Given the description of an element on the screen output the (x, y) to click on. 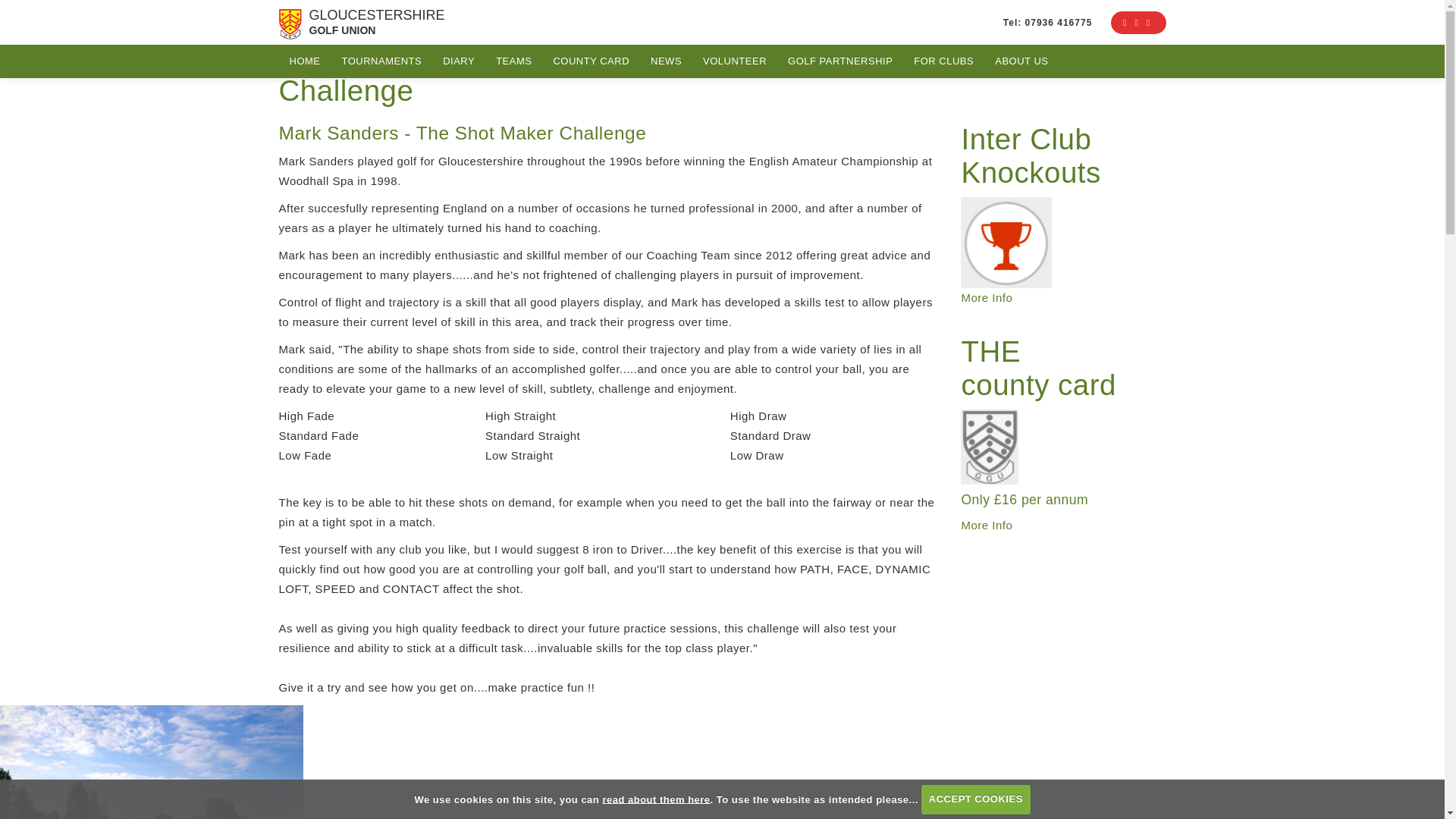
ABOUT US (1021, 61)
GOLF PARTNERSHIP (839, 61)
DIARY (458, 61)
HOME (305, 61)
VOLUNTEER (735, 61)
read about our cookies (656, 798)
COUNTY CARD (590, 61)
TEAMS (512, 61)
TOURNAMENTS (381, 61)
NEWS (666, 61)
FOR CLUBS (943, 61)
